Given the description of an element on the screen output the (x, y) to click on. 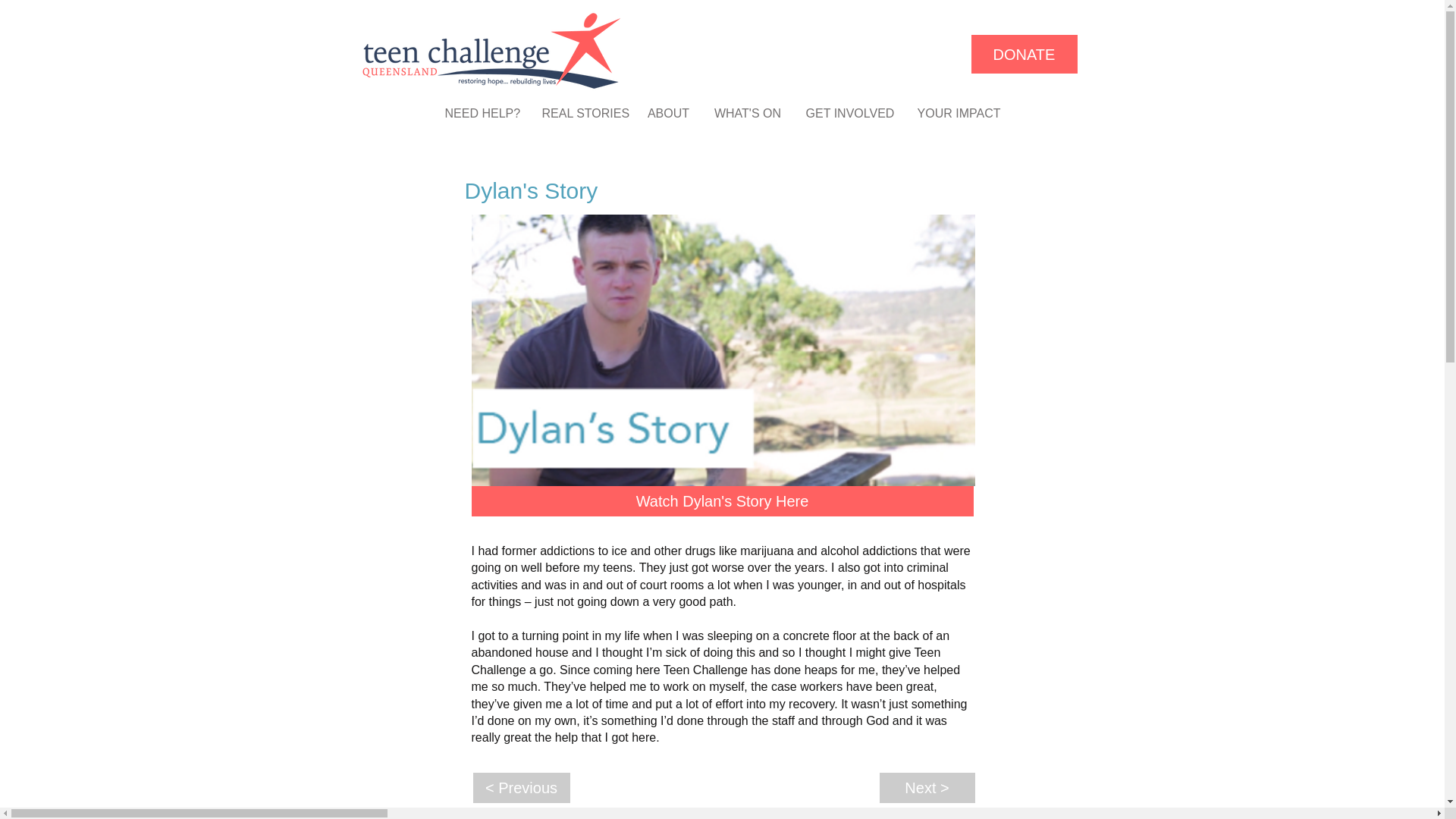
YOUR IMPACT (958, 113)
GET INVOLVED (849, 113)
NEED HELP? (482, 113)
ABOUT (667, 113)
WHAT'S ON (746, 113)
DONATE (1024, 54)
Watch Dylan's Story Here (722, 501)
REAL STORIES (583, 113)
